Given the description of an element on the screen output the (x, y) to click on. 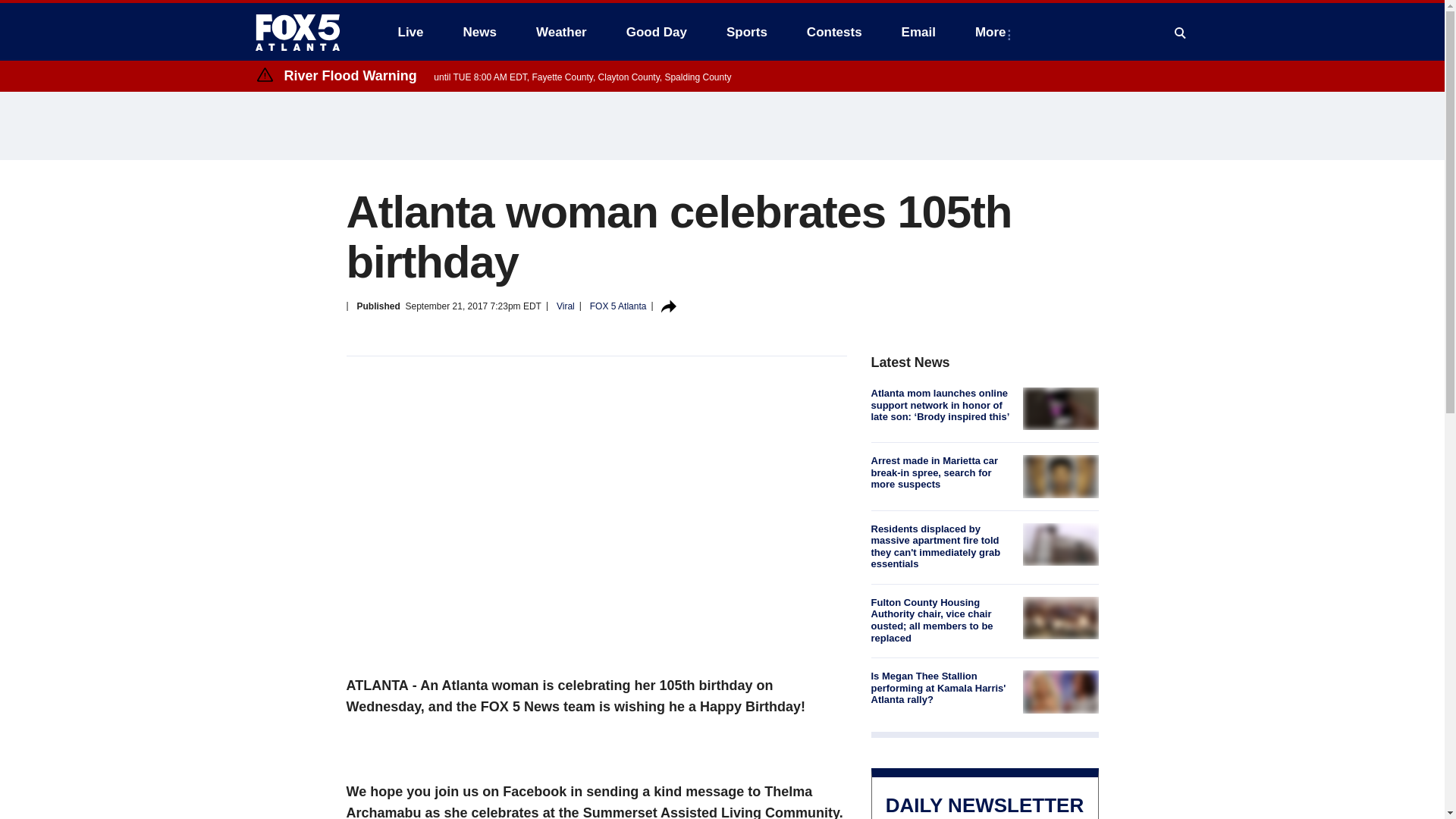
Weather (561, 32)
Sports (746, 32)
Live (410, 32)
News (479, 32)
Contests (834, 32)
Email (918, 32)
Good Day (656, 32)
More (993, 32)
